Given the description of an element on the screen output the (x, y) to click on. 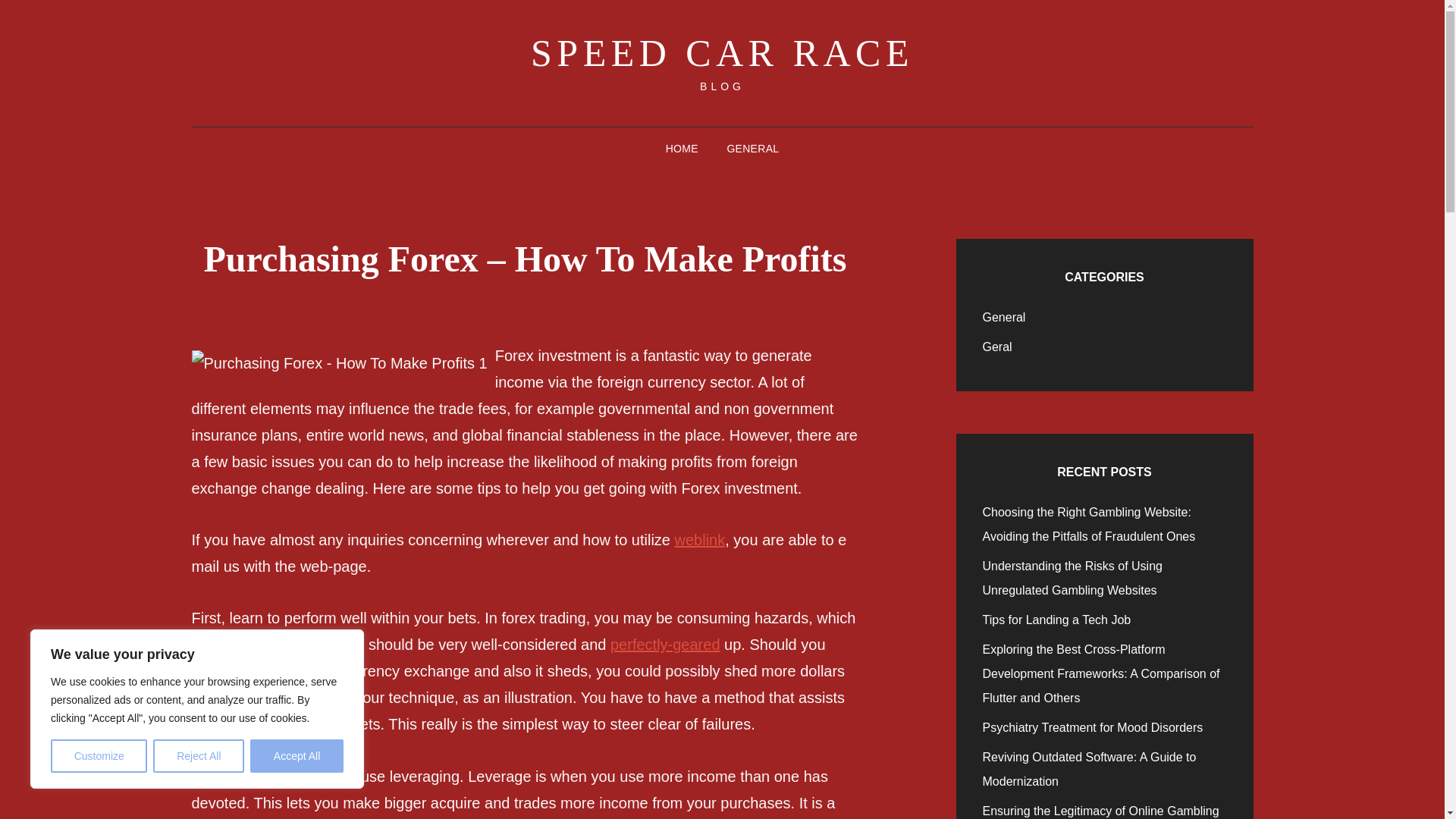
Customize (98, 756)
GENERAL (752, 148)
General (1004, 317)
Accept All (296, 756)
HOME (681, 148)
Psychiatry Treatment for Mood Disorders (1093, 727)
Reviving Outdated Software: A Guide to Modernization (1089, 769)
weblink (700, 539)
